Given the description of an element on the screen output the (x, y) to click on. 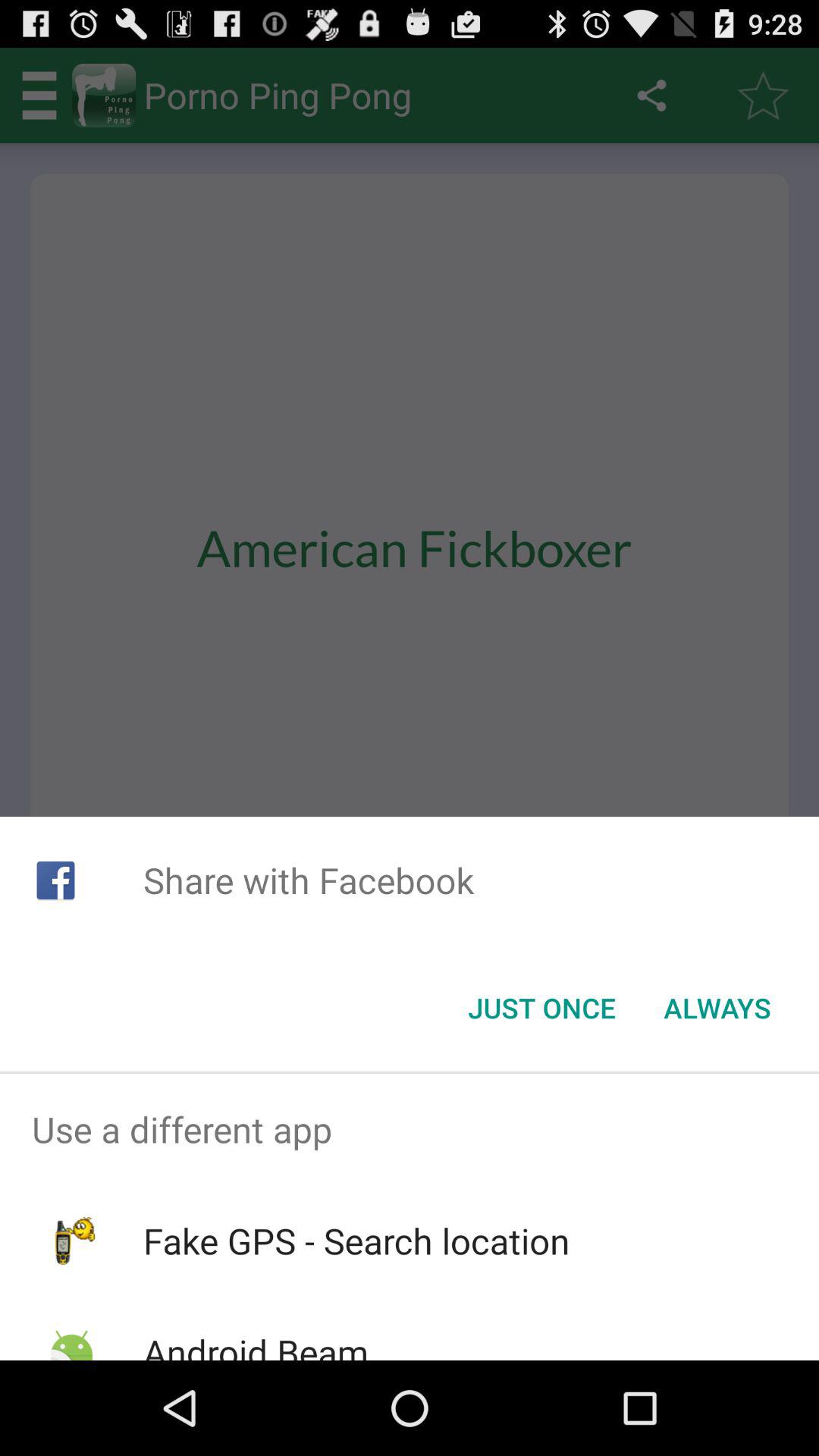
tap the always button (717, 1007)
